Given the description of an element on the screen output the (x, y) to click on. 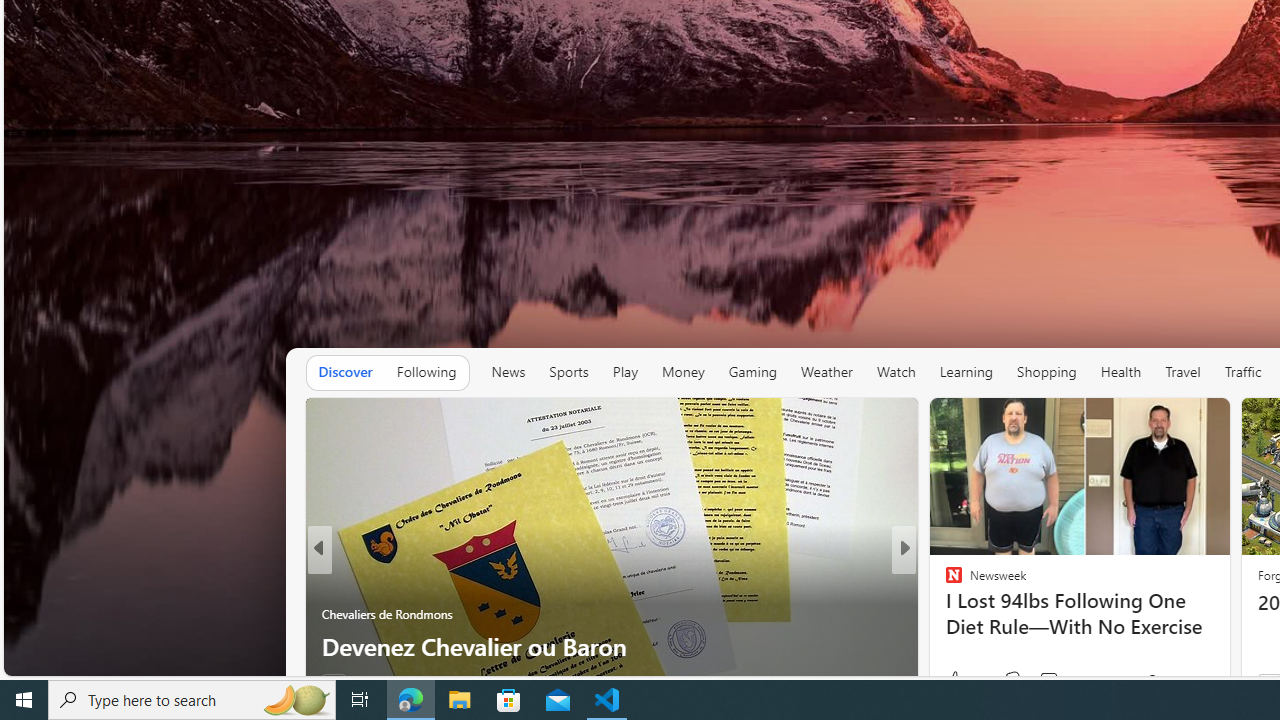
Money (682, 371)
Learning (965, 371)
View comments 10 Comment (1044, 681)
68 Like (956, 681)
Like (947, 681)
View comments 1 Comment (1036, 681)
View comments 95 Comment (1057, 680)
Sports (569, 372)
CNBC (944, 581)
Gaming (752, 371)
Discover (345, 372)
View comments 73 Comment (1051, 681)
View comments 95 Comment (1048, 679)
Chevaliers de Rondmons (387, 614)
Travel (1183, 372)
